Given the description of an element on the screen output the (x, y) to click on. 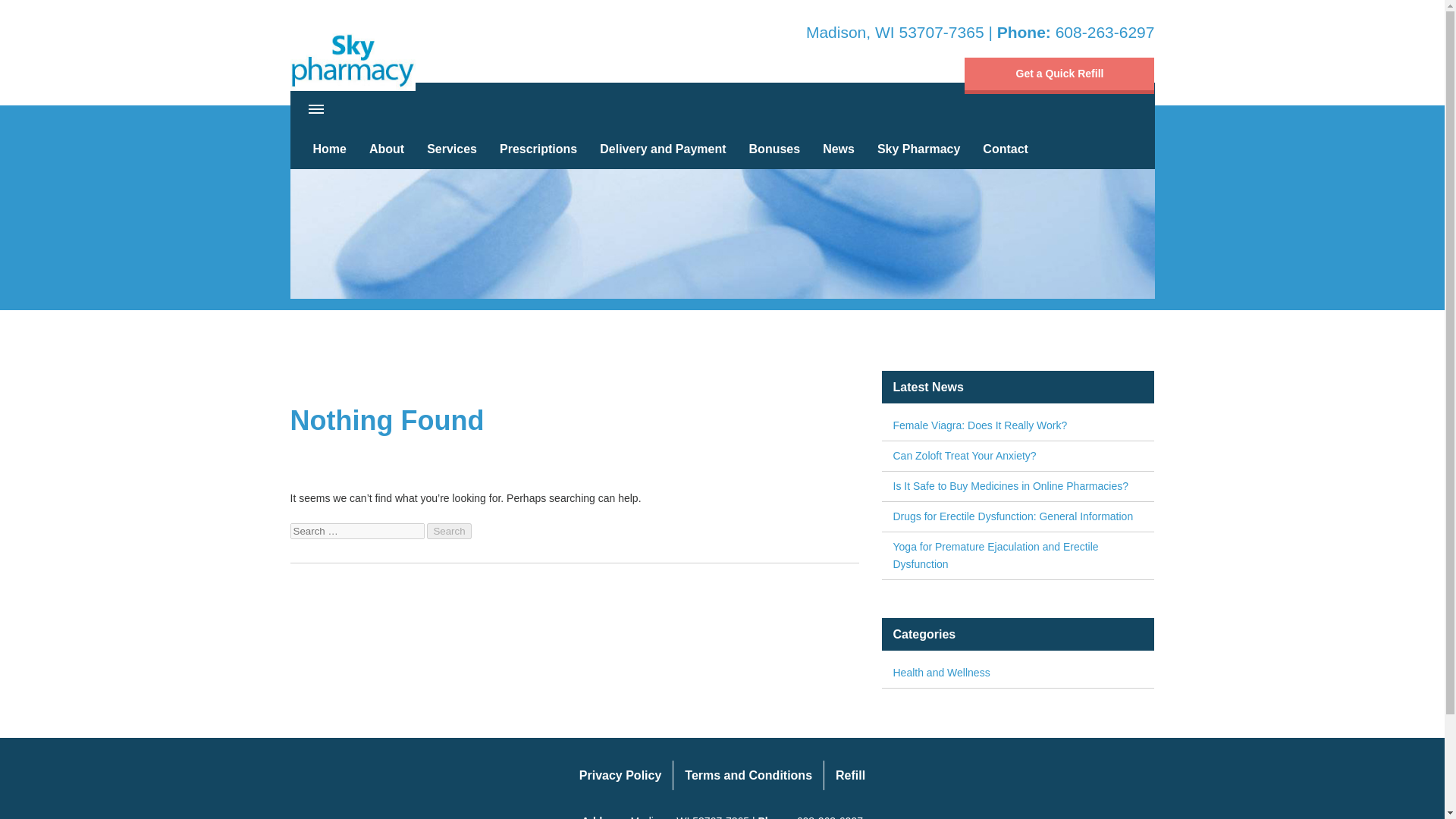
Is It Safe to Buy Medicines in Online Pharmacies? (1017, 486)
News (838, 148)
Prescriptions (537, 148)
Get a Quick Refill (1058, 75)
Can Zoloft Treat Your Anxiety? (1017, 455)
Privacy Policy (619, 774)
Home (329, 148)
Female Viagra: Does It Really Work? (1017, 425)
Get a Quick Refill (1058, 75)
Terms and Conditions (748, 774)
